Given the description of an element on the screen output the (x, y) to click on. 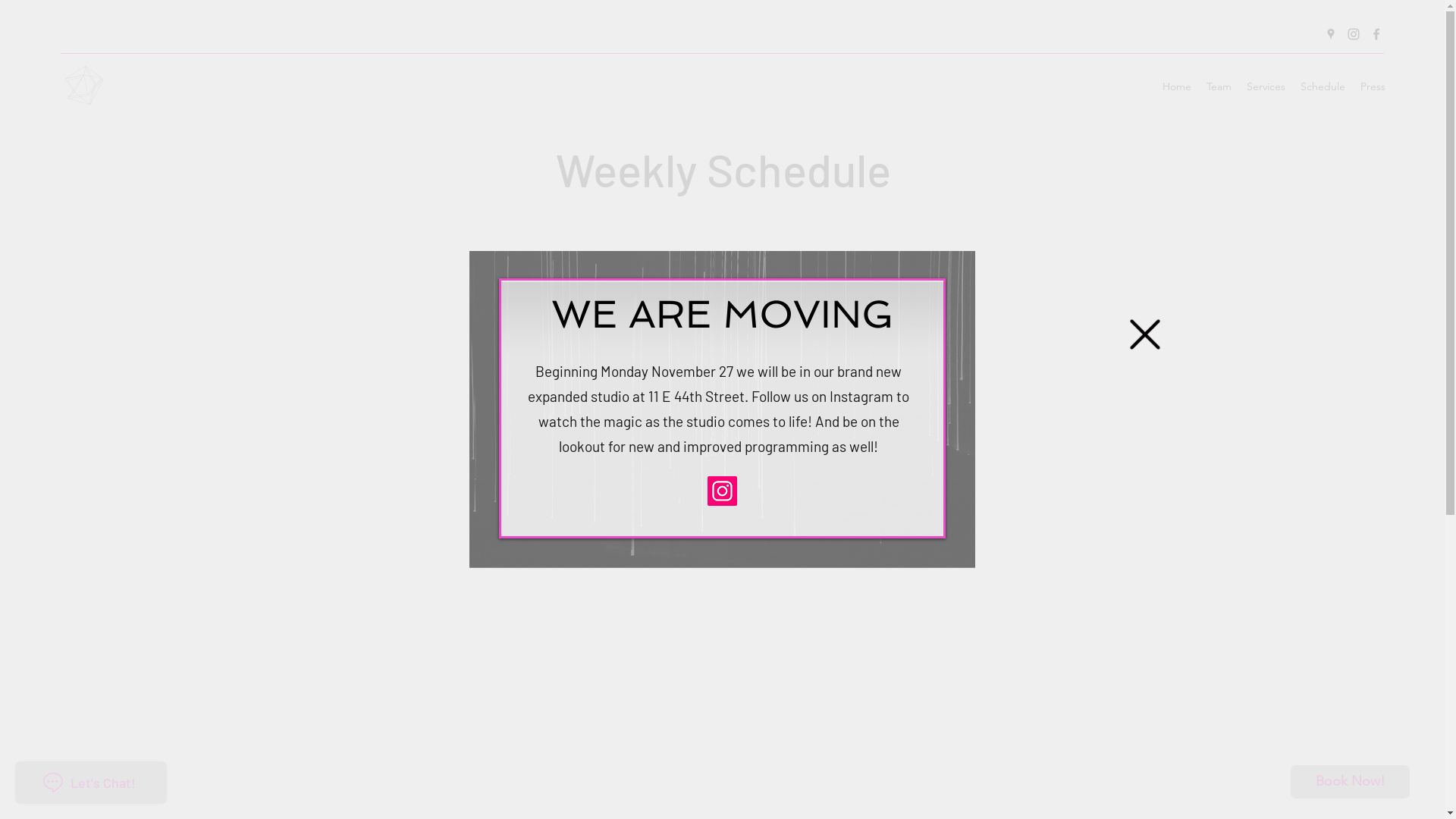
Schedule Element type: text (1322, 86)
Back to site Element type: hover (1144, 334)
Press Element type: text (1372, 86)
Book Now! Element type: text (1349, 781)
Home Element type: text (1176, 86)
Embedded Content Element type: hover (721, 492)
